Given the description of an element on the screen output the (x, y) to click on. 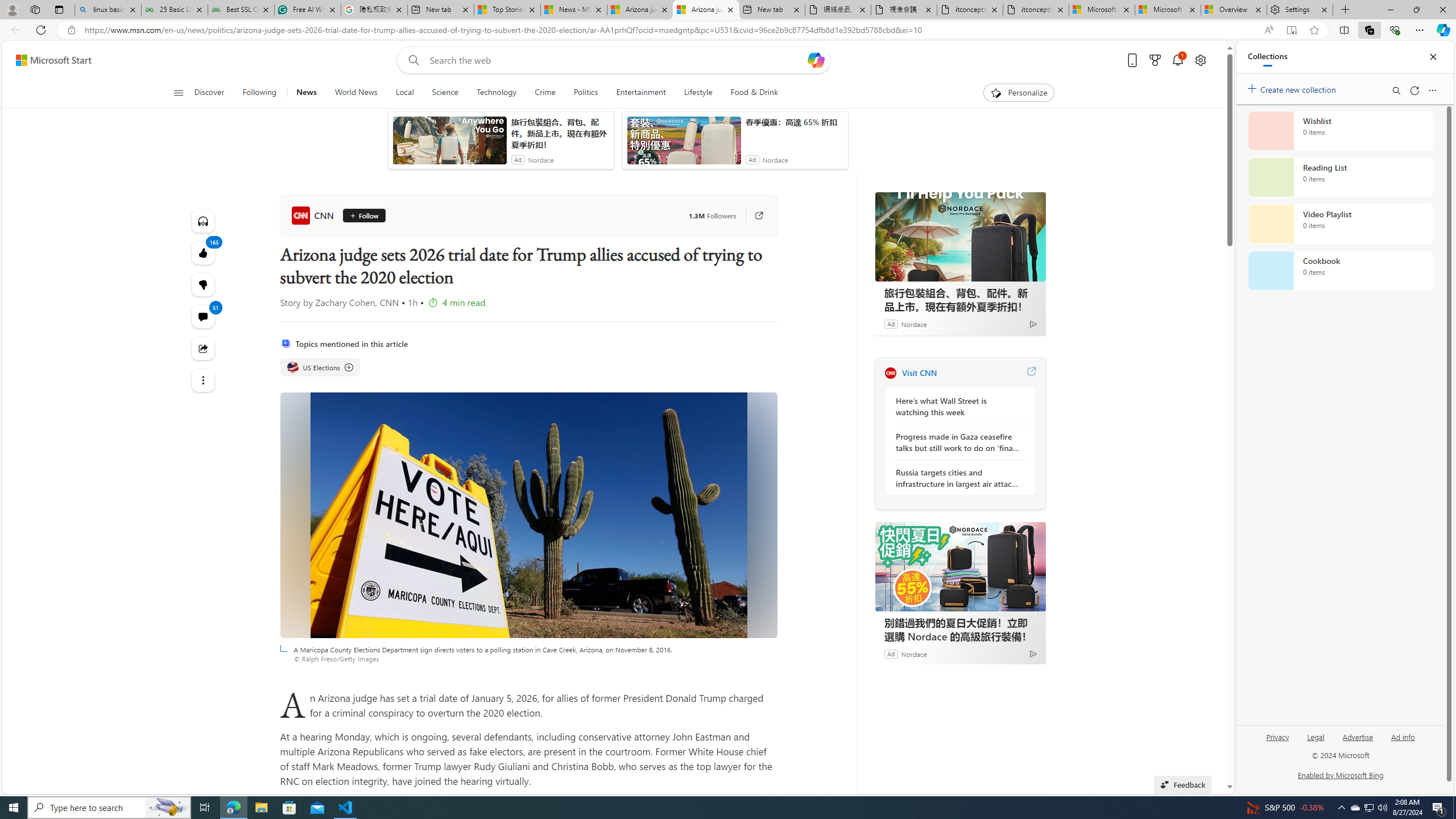
Top Stories - MSN (507, 9)
Crime (544, 92)
Ad info (1402, 736)
Entertainment (640, 92)
Visit CNN website (1031, 372)
Listen to this article (202, 220)
US Elections (292, 367)
